Given the description of an element on the screen output the (x, y) to click on. 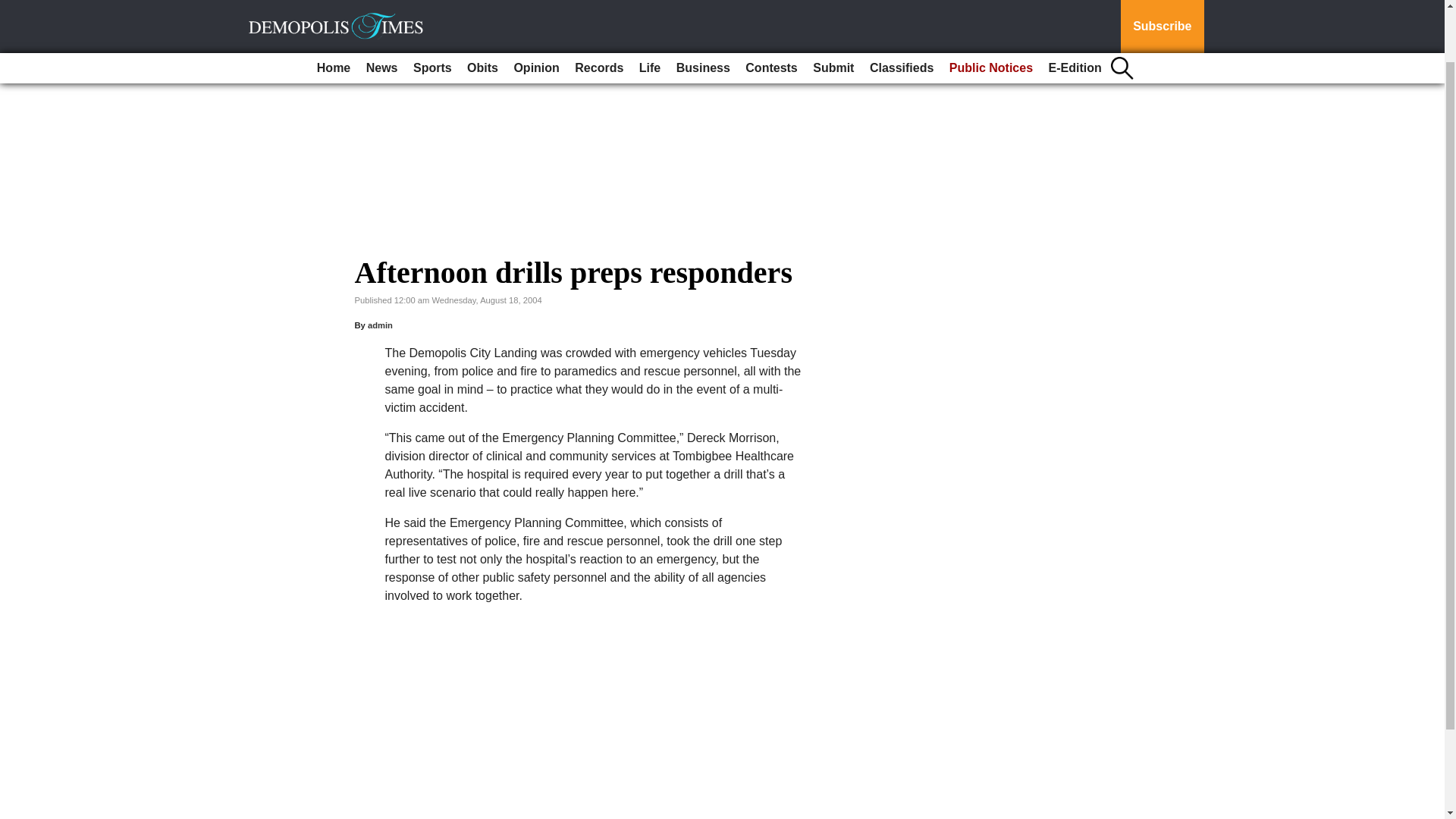
News (381, 10)
E-Edition (1075, 10)
admin (380, 325)
Sports (432, 10)
Life (649, 10)
Public Notices (991, 10)
Opinion (535, 10)
Contests (771, 10)
Business (702, 10)
Classifieds (901, 10)
